Given the description of an element on the screen output the (x, y) to click on. 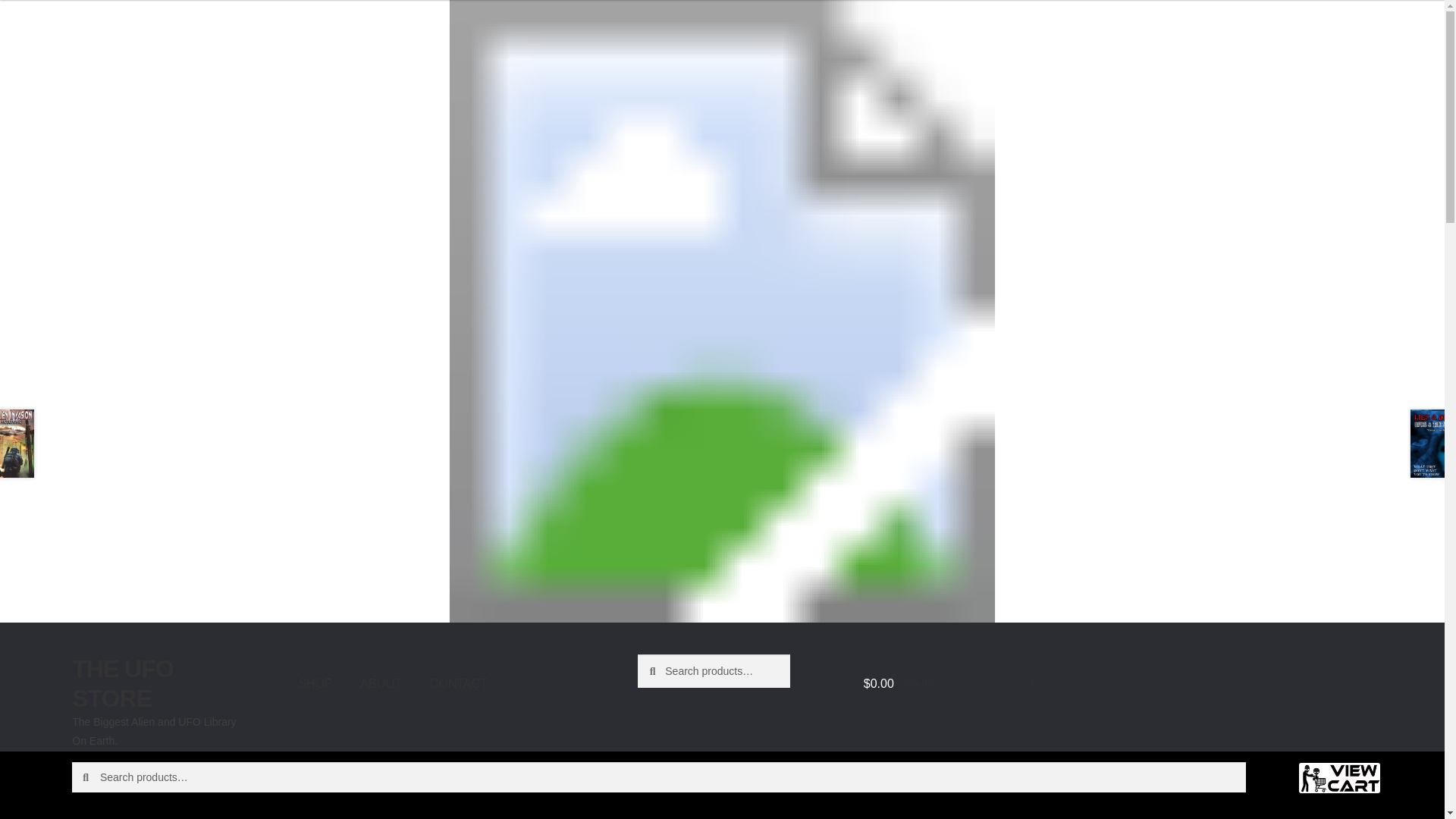
ABOUT (380, 683)
View your shopping cart (948, 683)
CONTACT (458, 683)
SHOP (314, 683)
THE UFO STORE (122, 683)
